Given the description of an element on the screen output the (x, y) to click on. 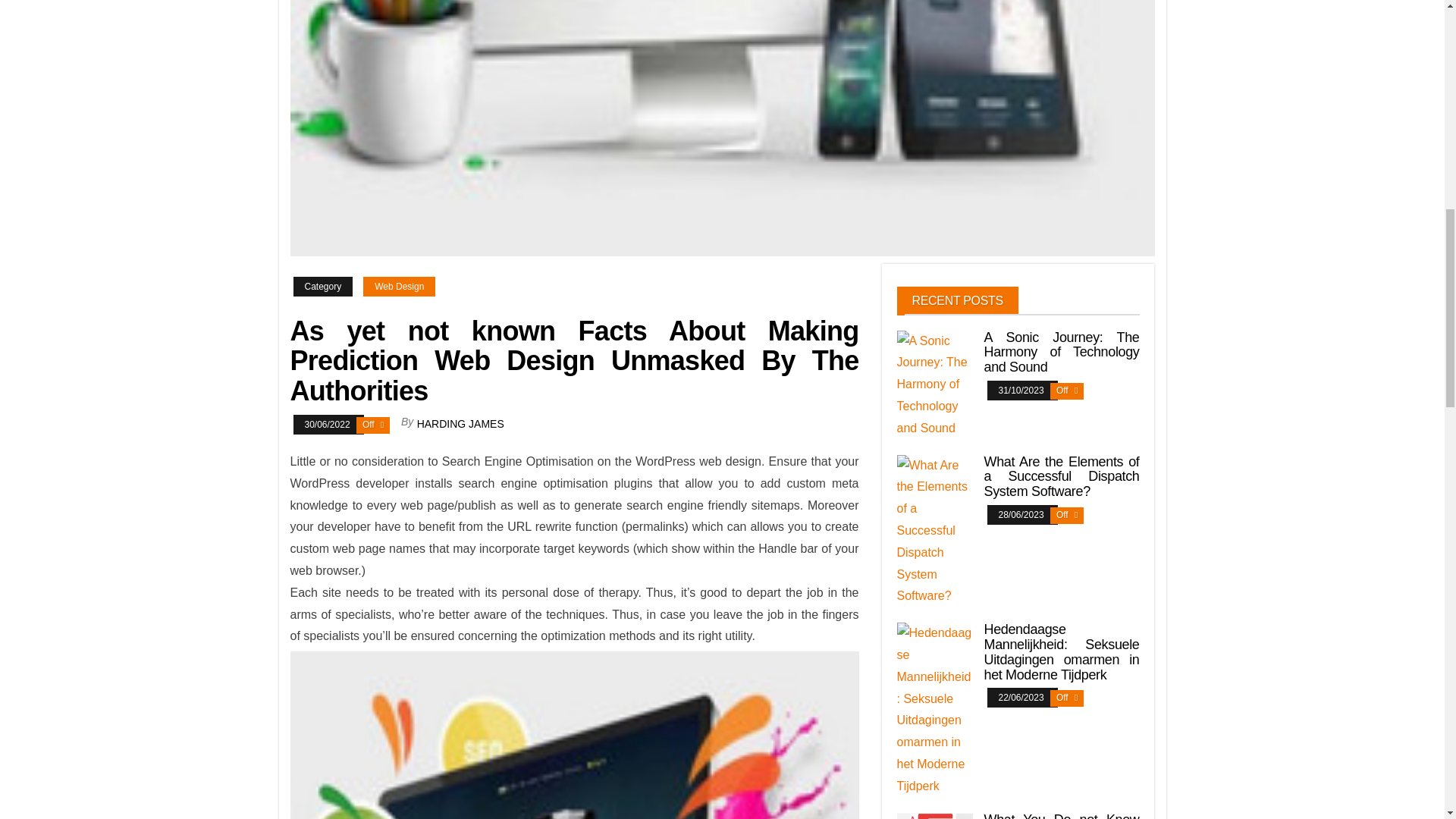
A Sonic Journey: The Harmony of Technology and Sound (1062, 352)
Web Design (398, 286)
HARDING JAMES (459, 423)
